Given the description of an element on the screen output the (x, y) to click on. 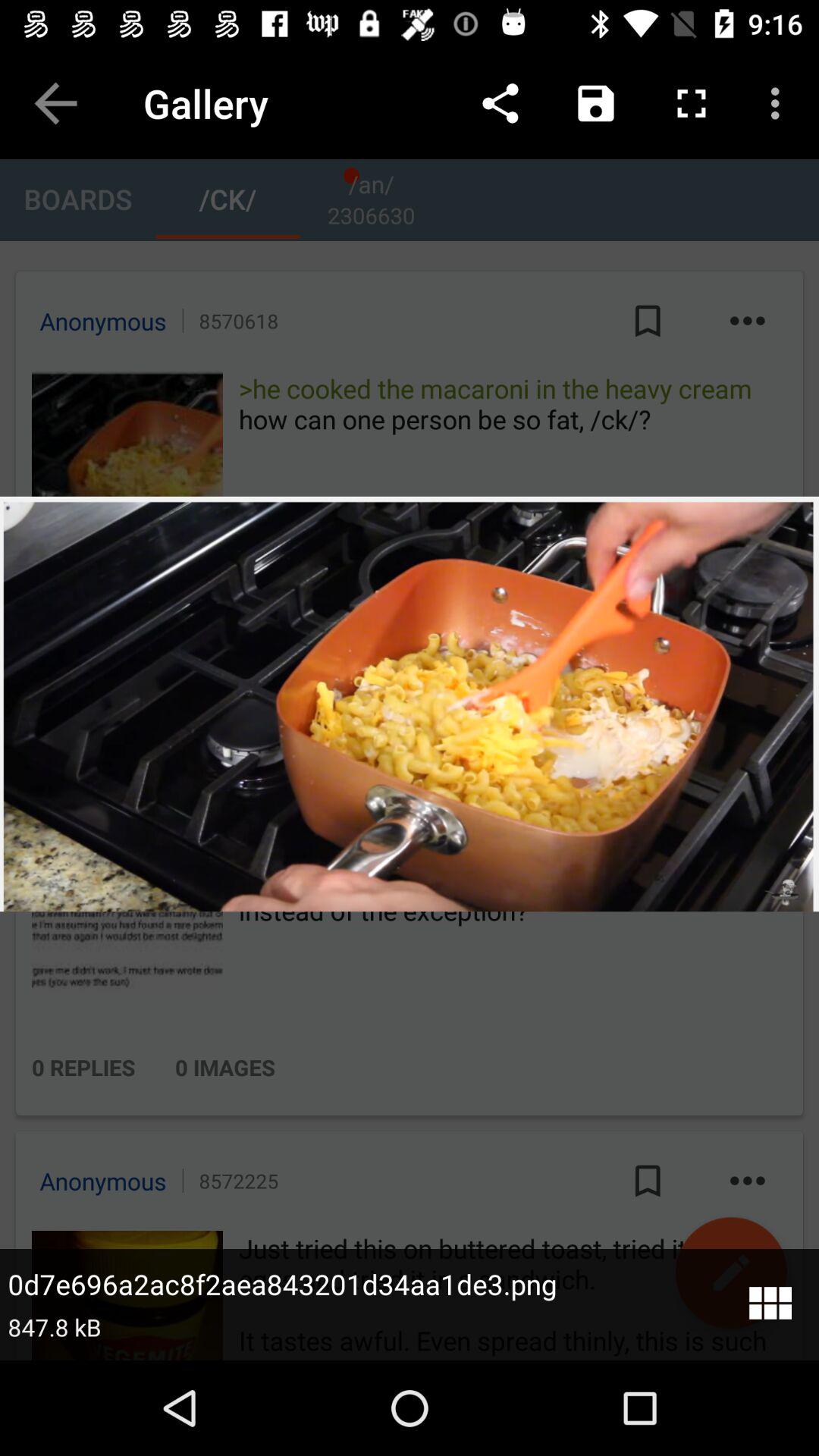
menu (769, 1304)
